Given the description of an element on the screen output the (x, y) to click on. 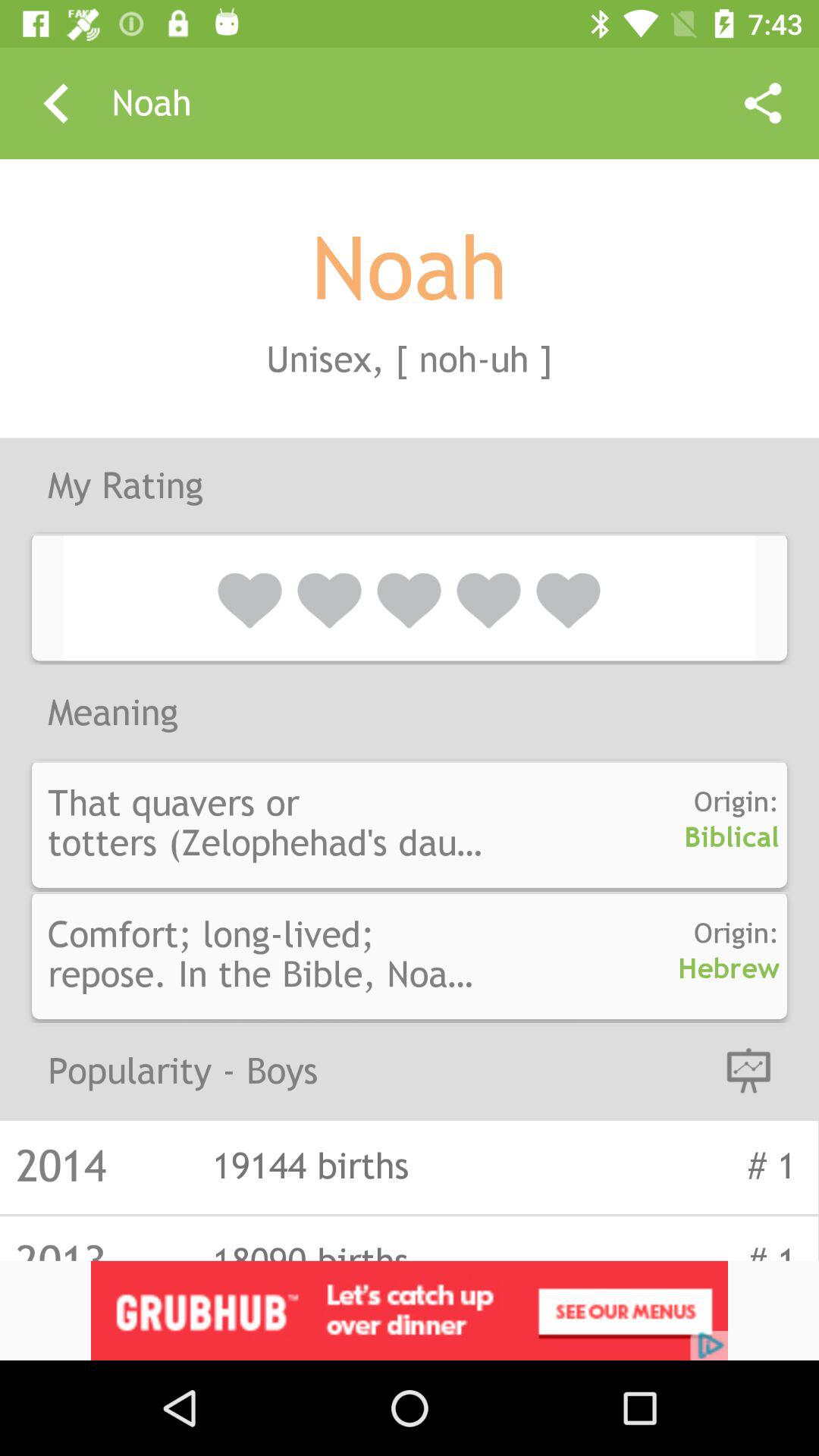
go back (55, 103)
